Given the description of an element on the screen output the (x, y) to click on. 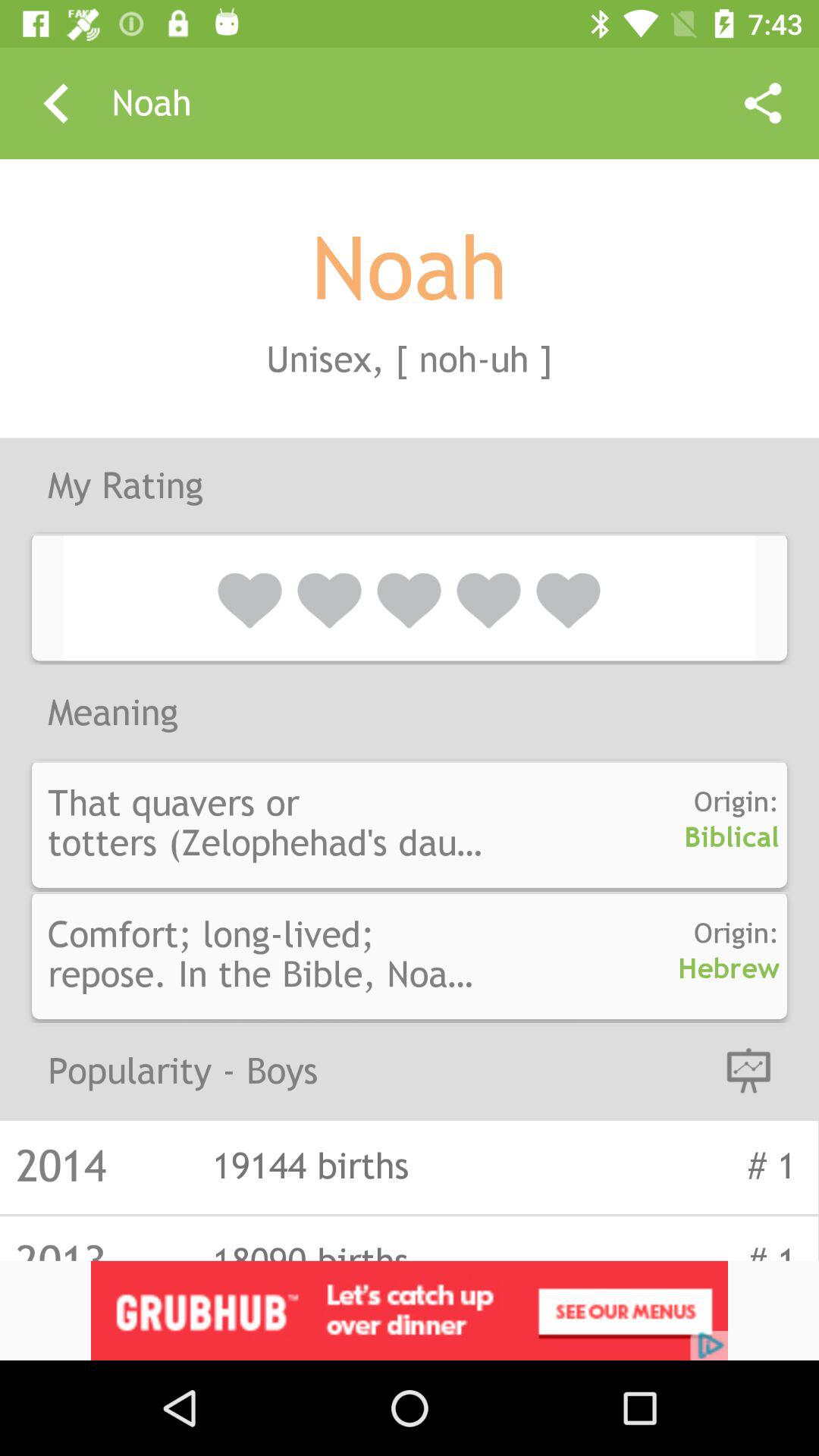
go back (55, 103)
